Given the description of an element on the screen output the (x, y) to click on. 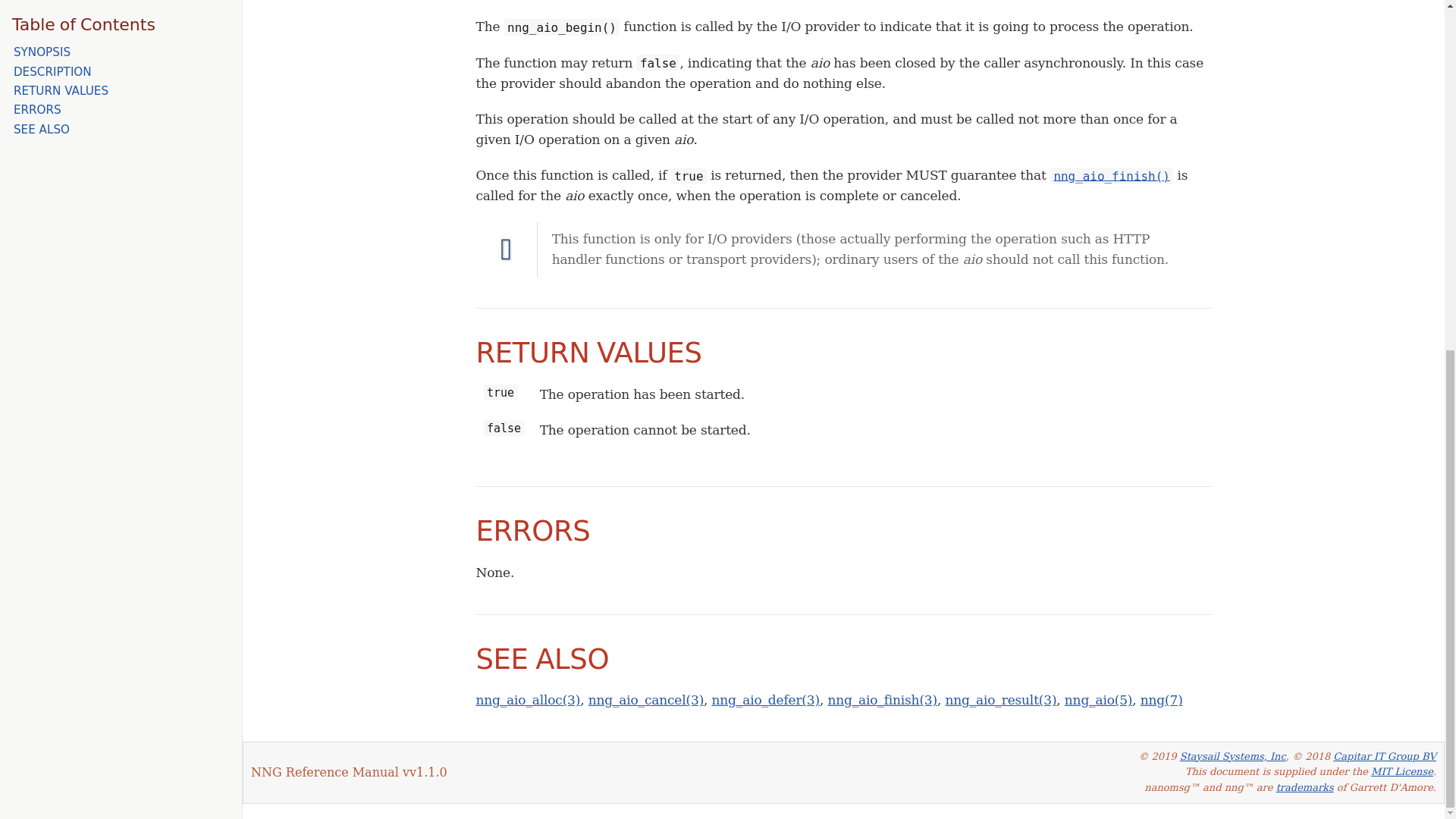
Staysail Systems, Inc (1232, 756)
Capitar IT Group BV (1384, 756)
MIT License (1401, 771)
Note (506, 249)
trademarks (1304, 787)
